Given the description of an element on the screen output the (x, y) to click on. 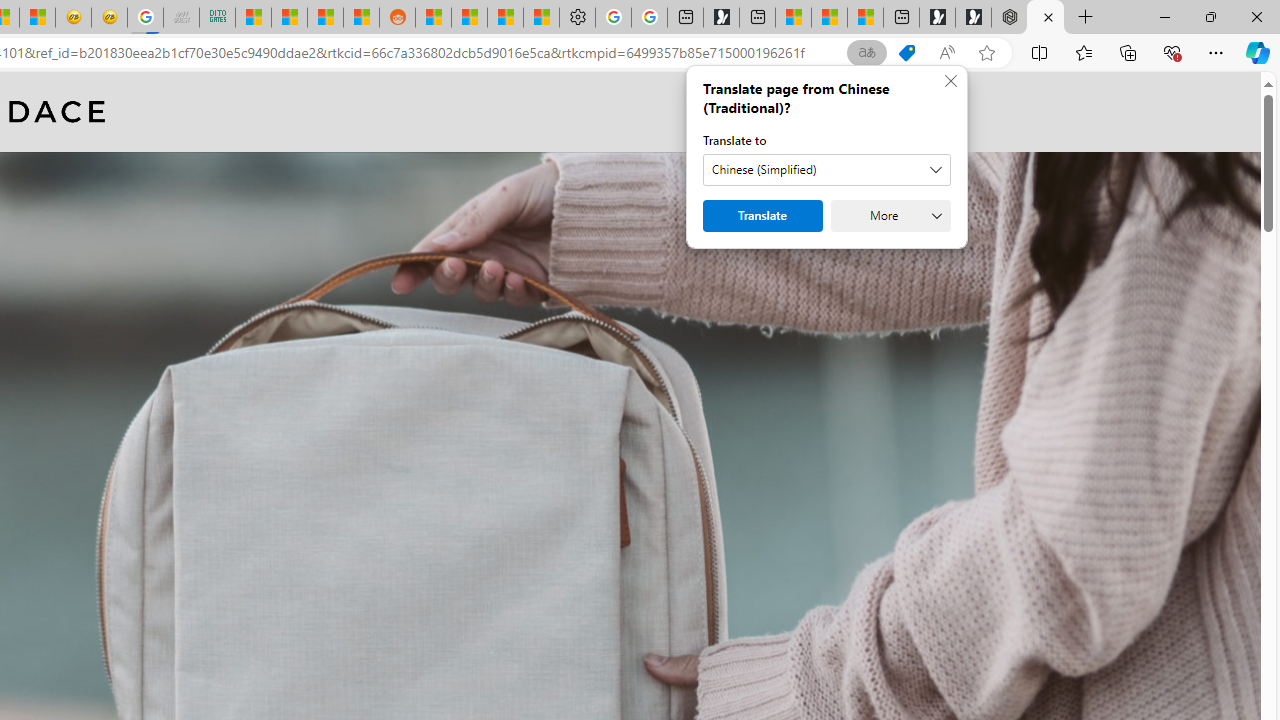
Translate to (826, 169)
